Given the description of an element on the screen output the (x, y) to click on. 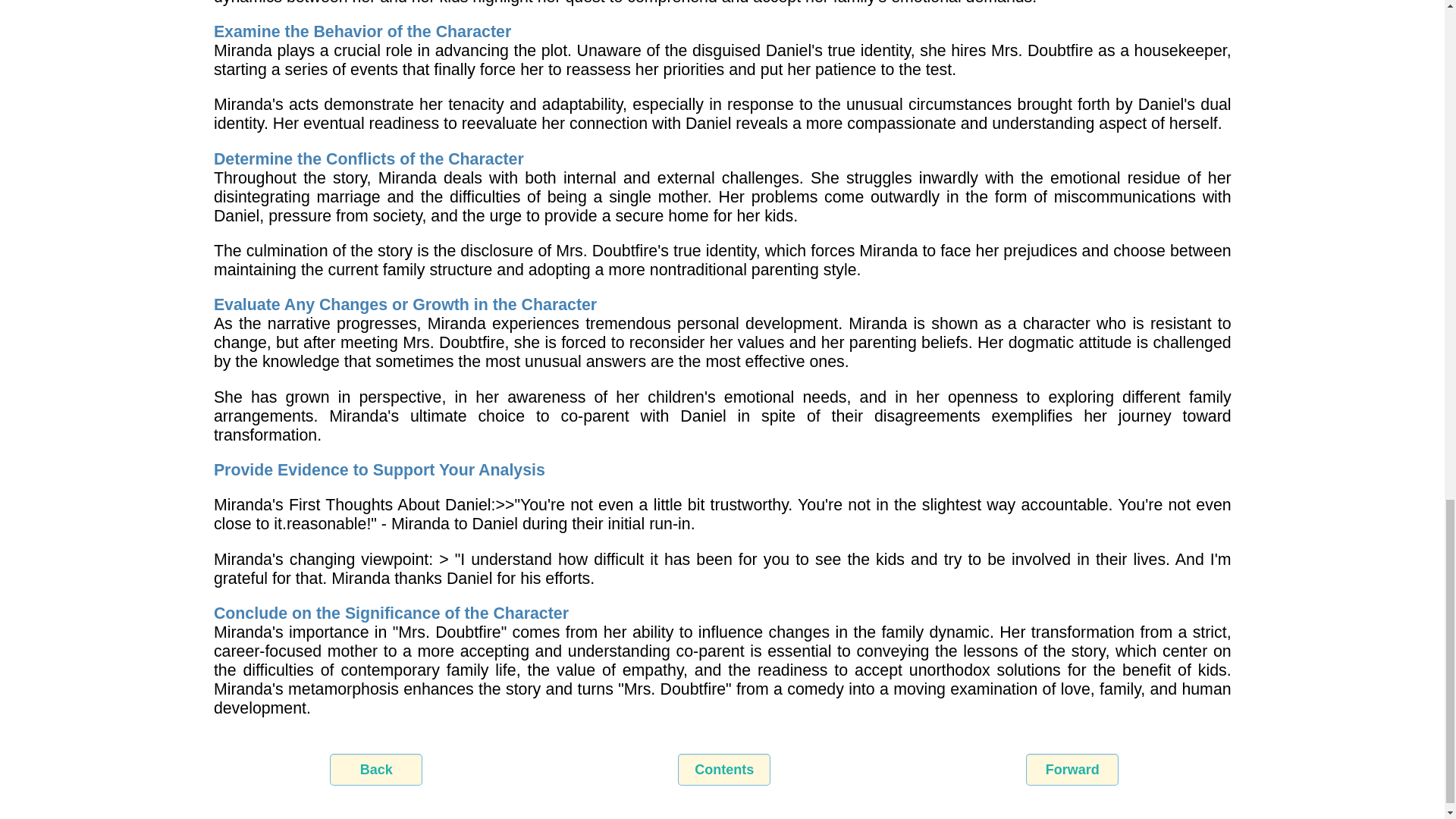
Back (376, 769)
Contents (724, 769)
Forward (1072, 769)
